Given the description of an element on the screen output the (x, y) to click on. 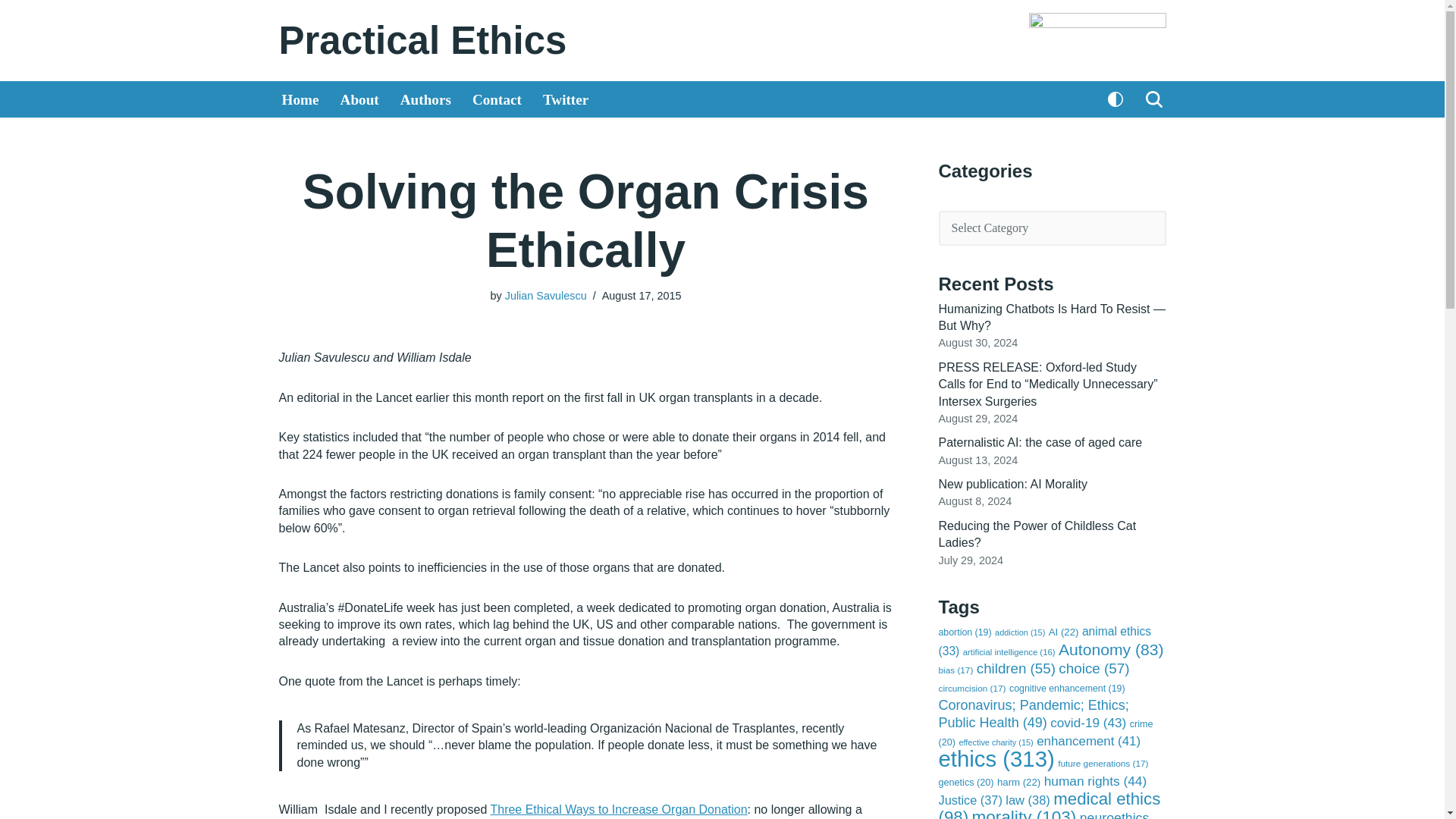
Practical Ethics (423, 40)
Skip to content (11, 31)
Home (300, 99)
Posts by Julian Savulescu (545, 295)
Twitter (565, 99)
About (359, 99)
Contact (496, 99)
Three Ethical Ways to Increase Organ Donation (617, 809)
New publication: AI Morality (1013, 483)
Julian Savulescu (545, 295)
